Given the description of an element on the screen output the (x, y) to click on. 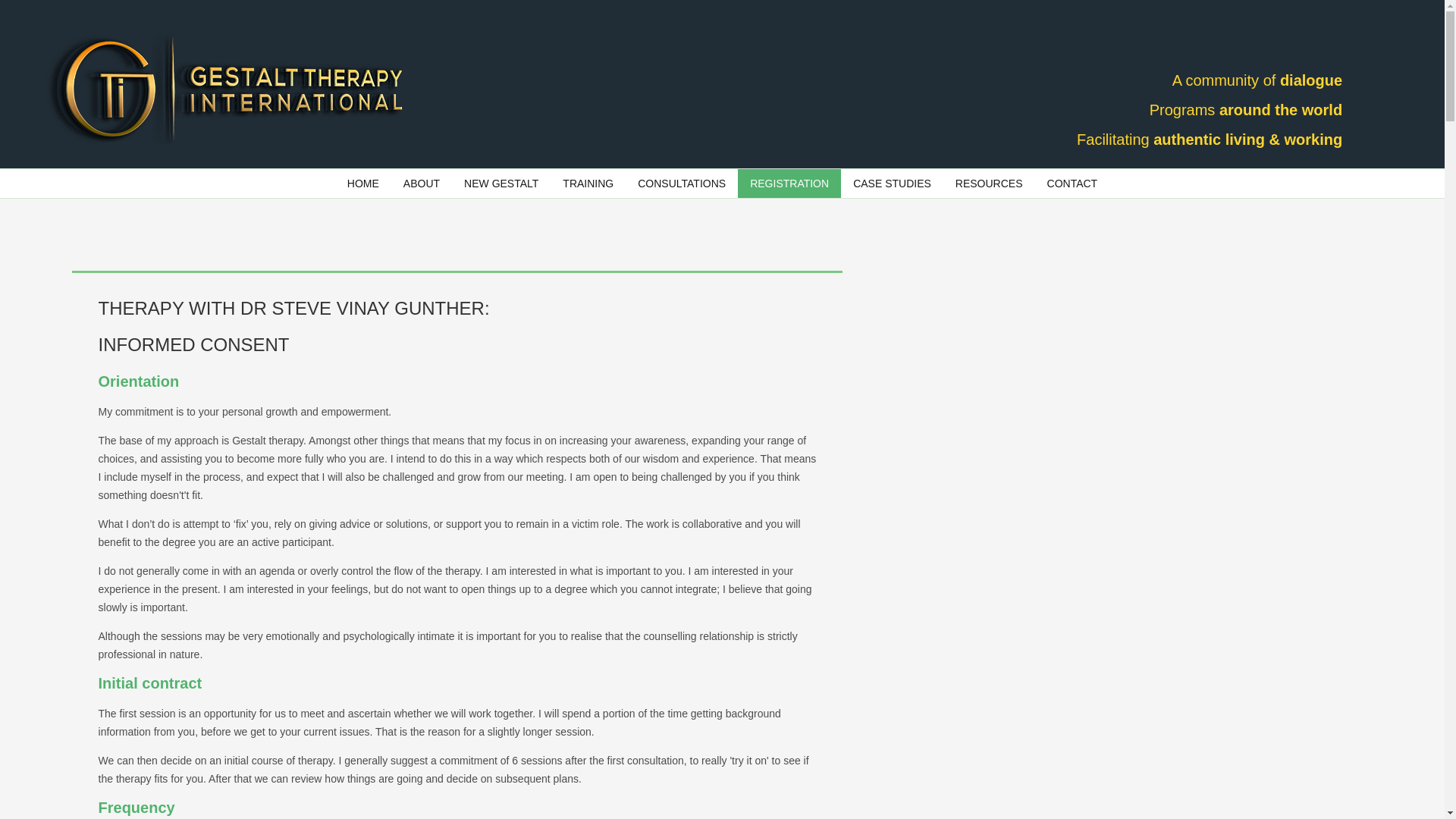
HOME (362, 183)
NEW GESTALT (500, 183)
ABOUT (421, 183)
CONSULTATIONS (682, 183)
TRAINING (588, 183)
